Given the description of an element on the screen output the (x, y) to click on. 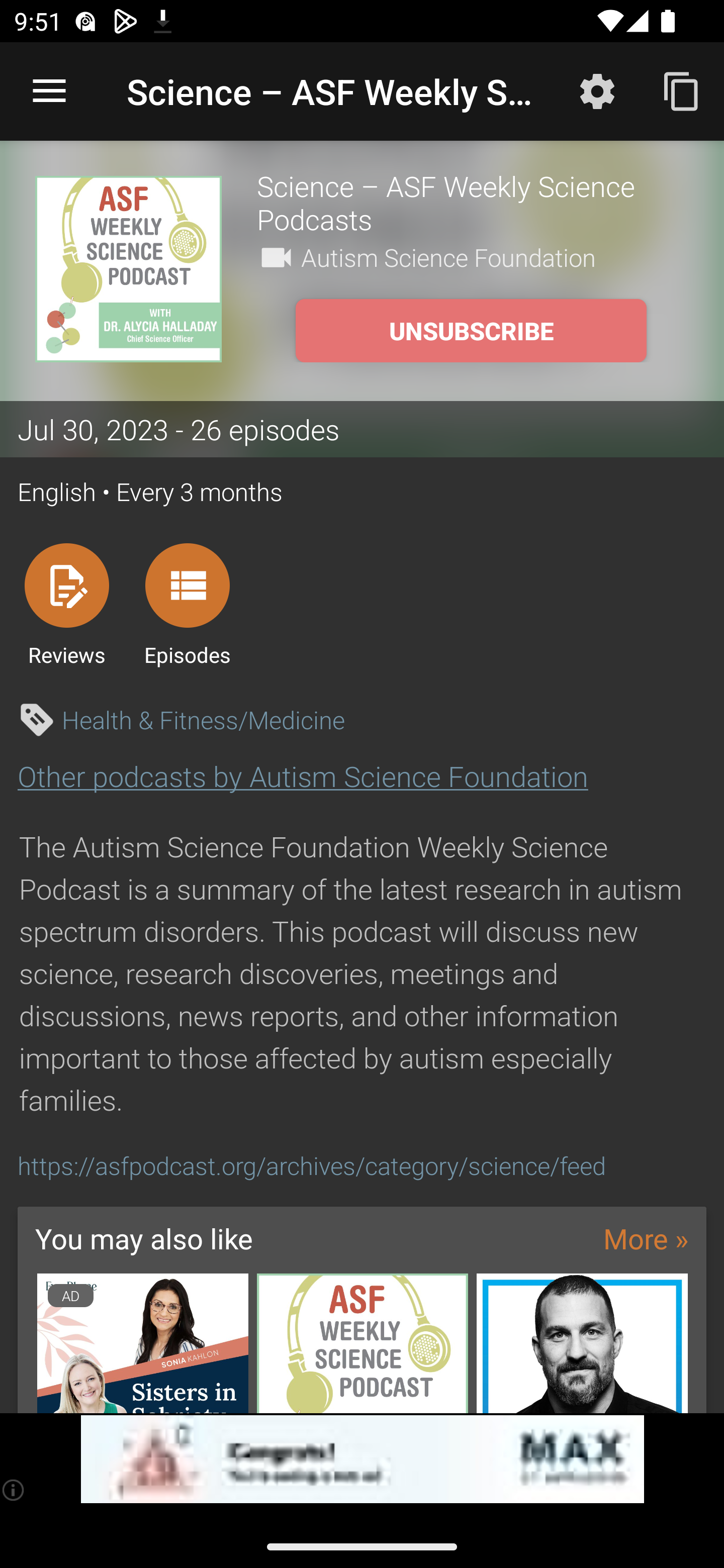
Open navigation sidebar (49, 91)
Settings (597, 90)
Copy feed url to clipboard (681, 90)
Science – ASF Weekly Science Podcasts (472, 202)
UNSUBSCRIBE (470, 330)
Reviews (66, 604)
Episodes (187, 604)
Other podcasts by Autism Science Foundation (302, 775)
More » (645, 1238)
AD (142, 1342)
app-monetization (362, 1459)
(i) (14, 1489)
